Given the description of an element on the screen output the (x, y) to click on. 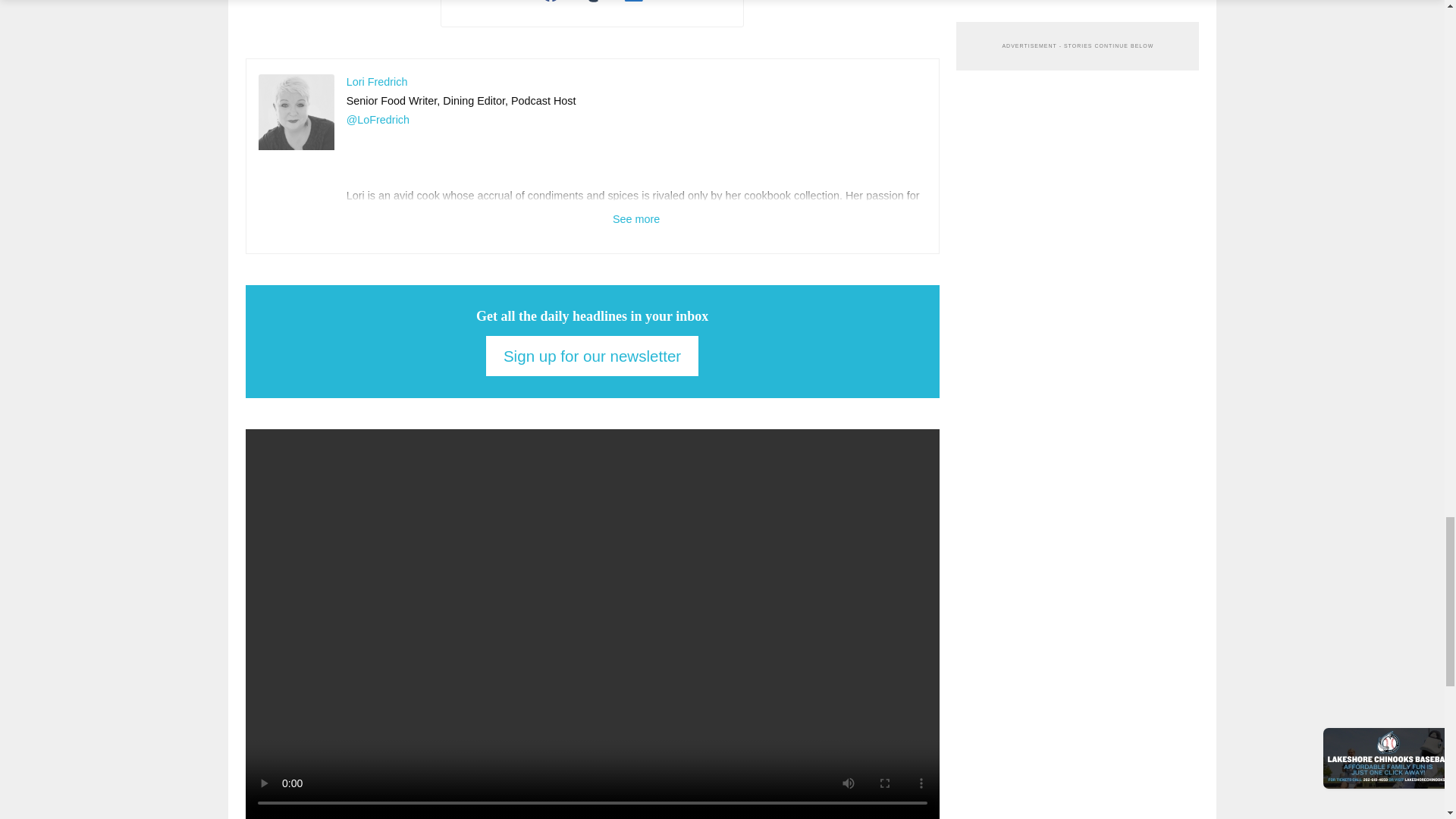
Lori Fredrich (296, 111)
More articles by Lori Fredrich (376, 81)
Lori Fredrich (376, 81)
